Given the description of an element on the screen output the (x, y) to click on. 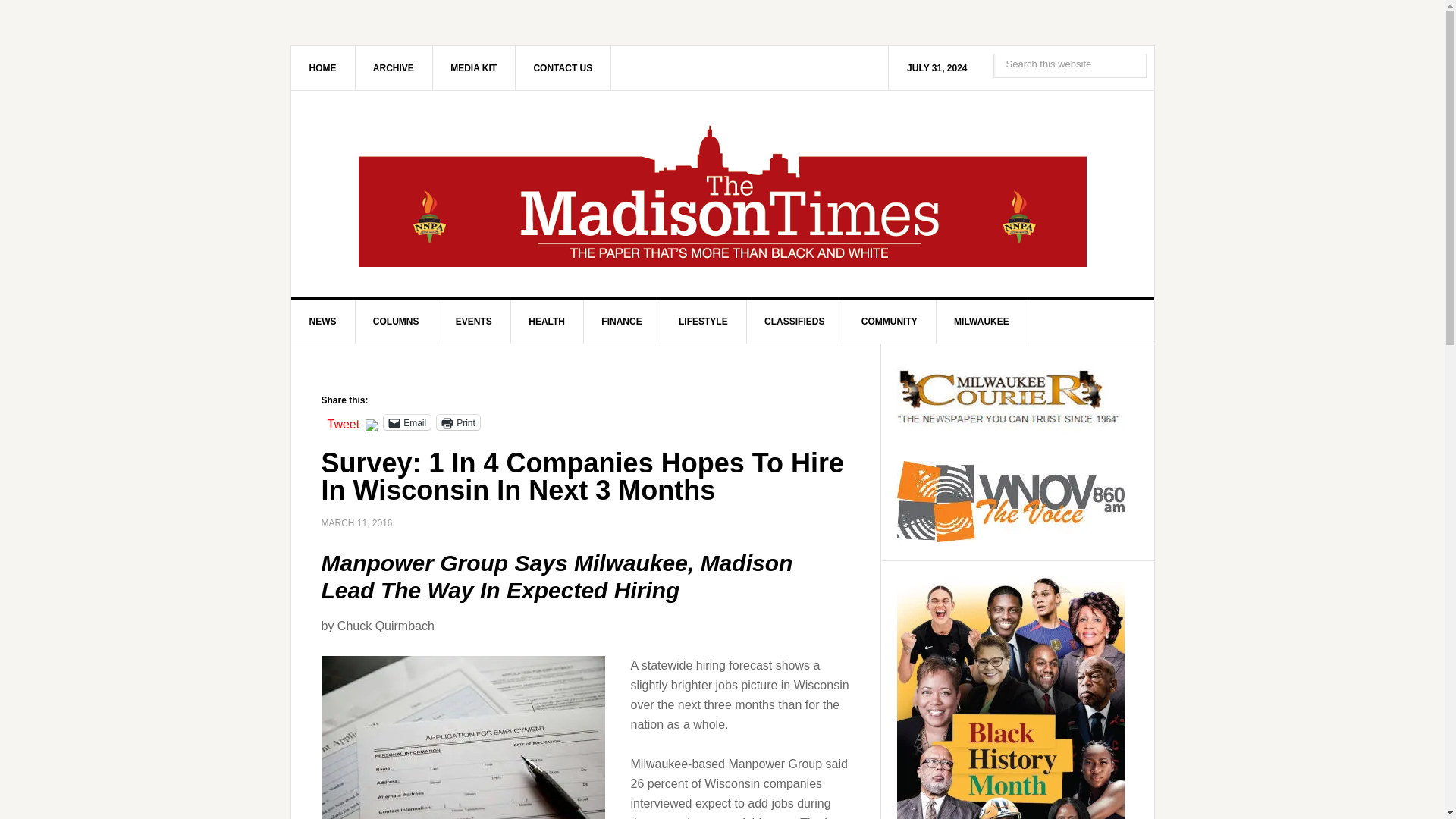
Email (407, 421)
CLASSIFIEDS (794, 321)
MEDIA KIT (473, 67)
EVENTS (474, 321)
Tweet (343, 421)
MILWAUKEE (981, 321)
COLUMNS (396, 321)
THE MADISON TIMES (722, 193)
LIFESTYLE (703, 321)
NEWS (323, 321)
COMMUNITY (889, 321)
Click to print (458, 421)
HEALTH (547, 321)
Print (458, 421)
Click to email a link to a friend (407, 421)
